Given the description of an element on the screen output the (x, y) to click on. 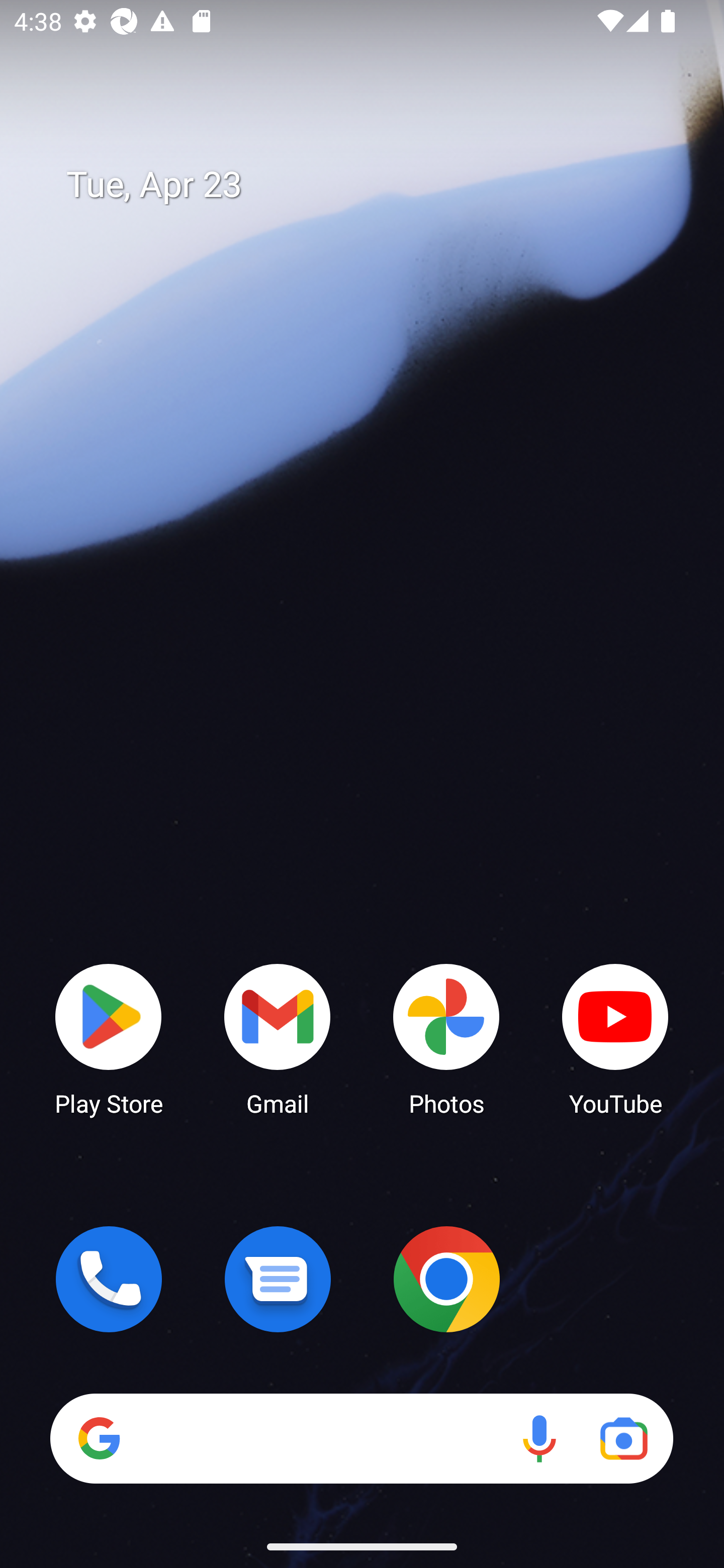
Tue, Apr 23 (375, 184)
Play Store (108, 1038)
Gmail (277, 1038)
Photos (445, 1038)
YouTube (615, 1038)
Phone (108, 1279)
Messages (277, 1279)
Chrome (446, 1279)
Search Voice search Google Lens (361, 1438)
Voice search (539, 1438)
Google Lens (623, 1438)
